Given the description of an element on the screen output the (x, y) to click on. 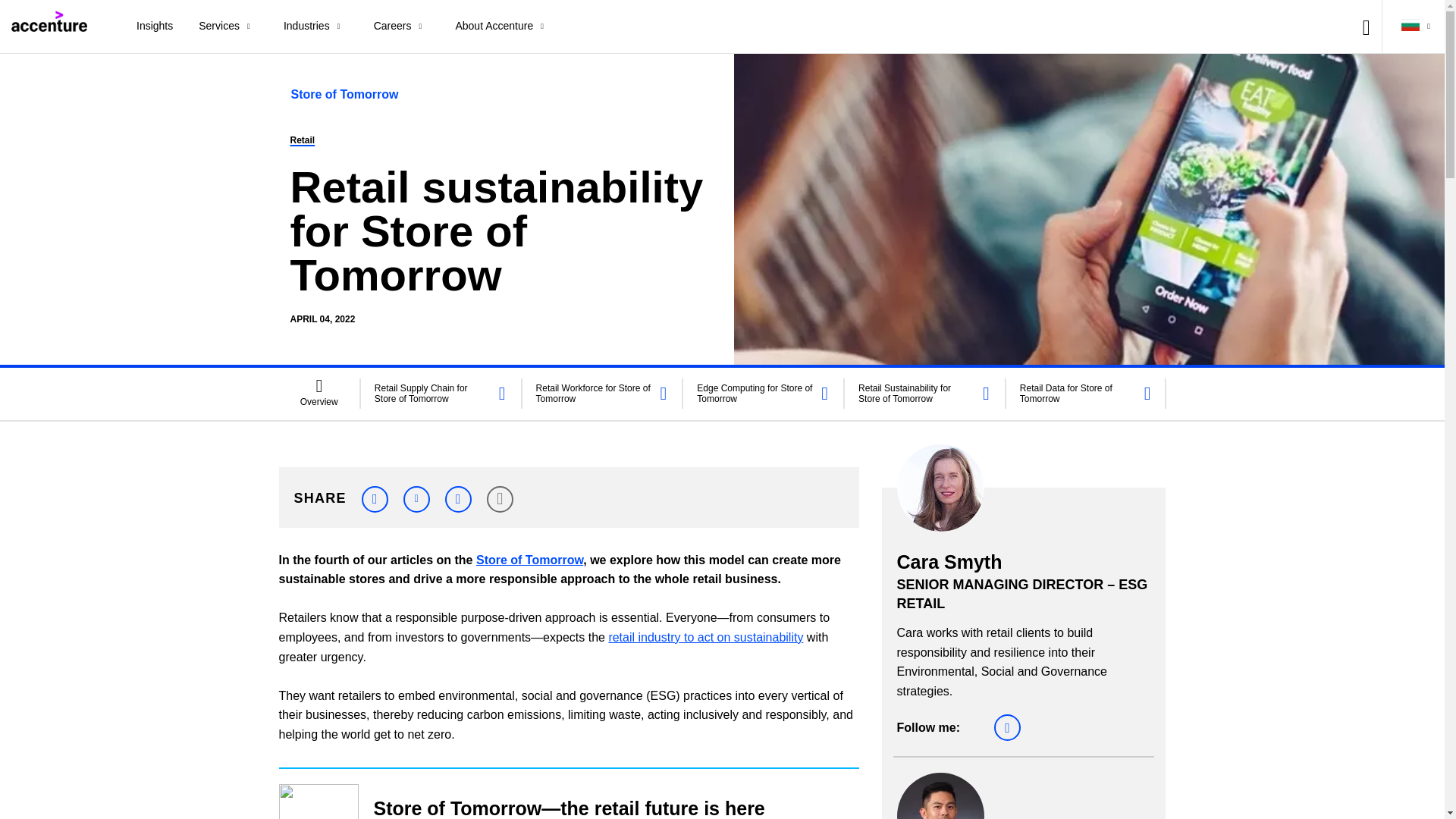
Industries (315, 26)
Services (228, 26)
Insights (154, 26)
